Given the description of an element on the screen output the (x, y) to click on. 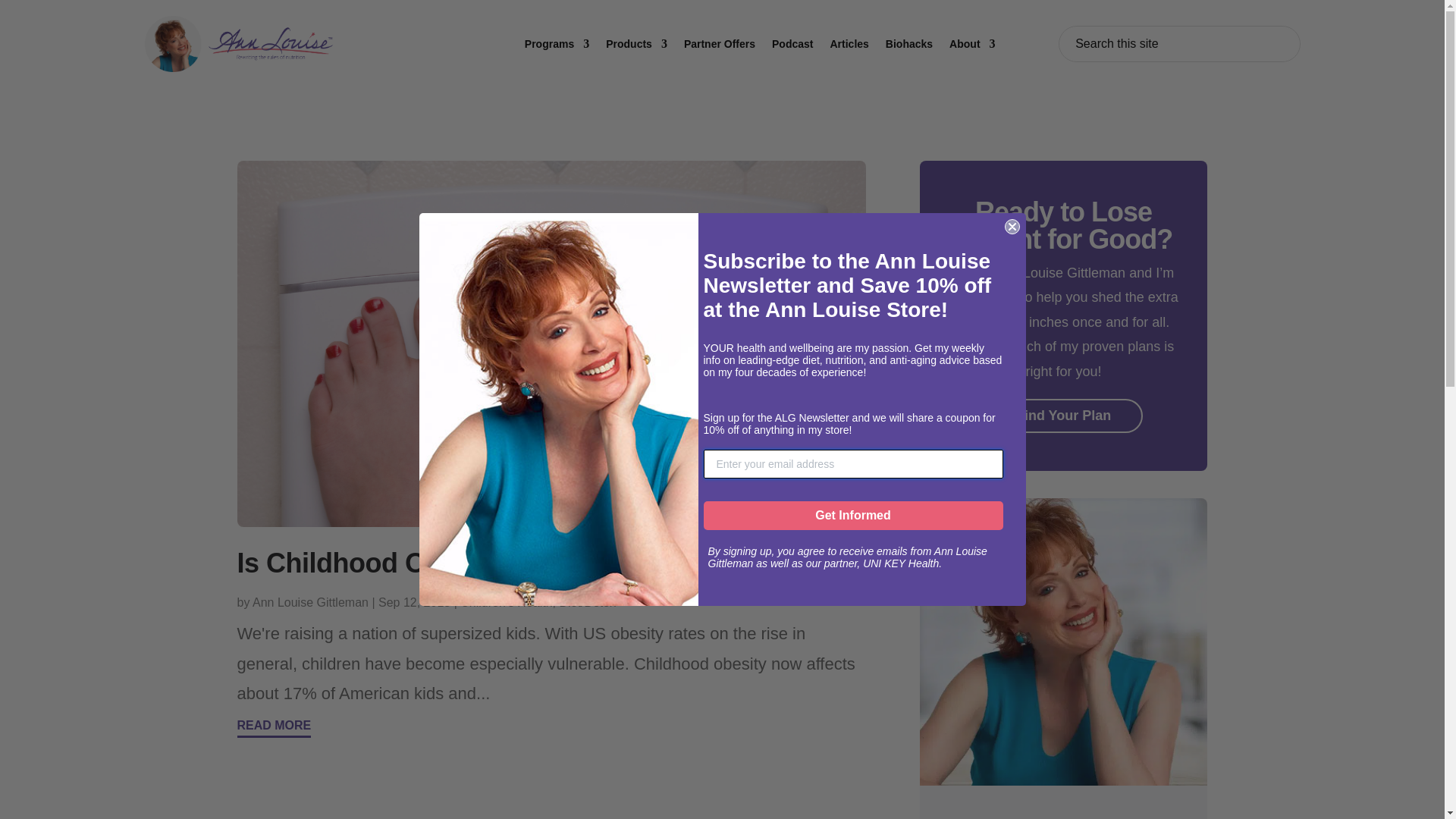
Posts by Ann Louise Gittleman (309, 602)
Partner Offers (719, 43)
Close dialog 1 (1011, 226)
Articles (848, 43)
Podcast (791, 43)
Programs (556, 43)
Biohacks (909, 43)
Products (635, 43)
About (971, 43)
